Given the description of an element on the screen output the (x, y) to click on. 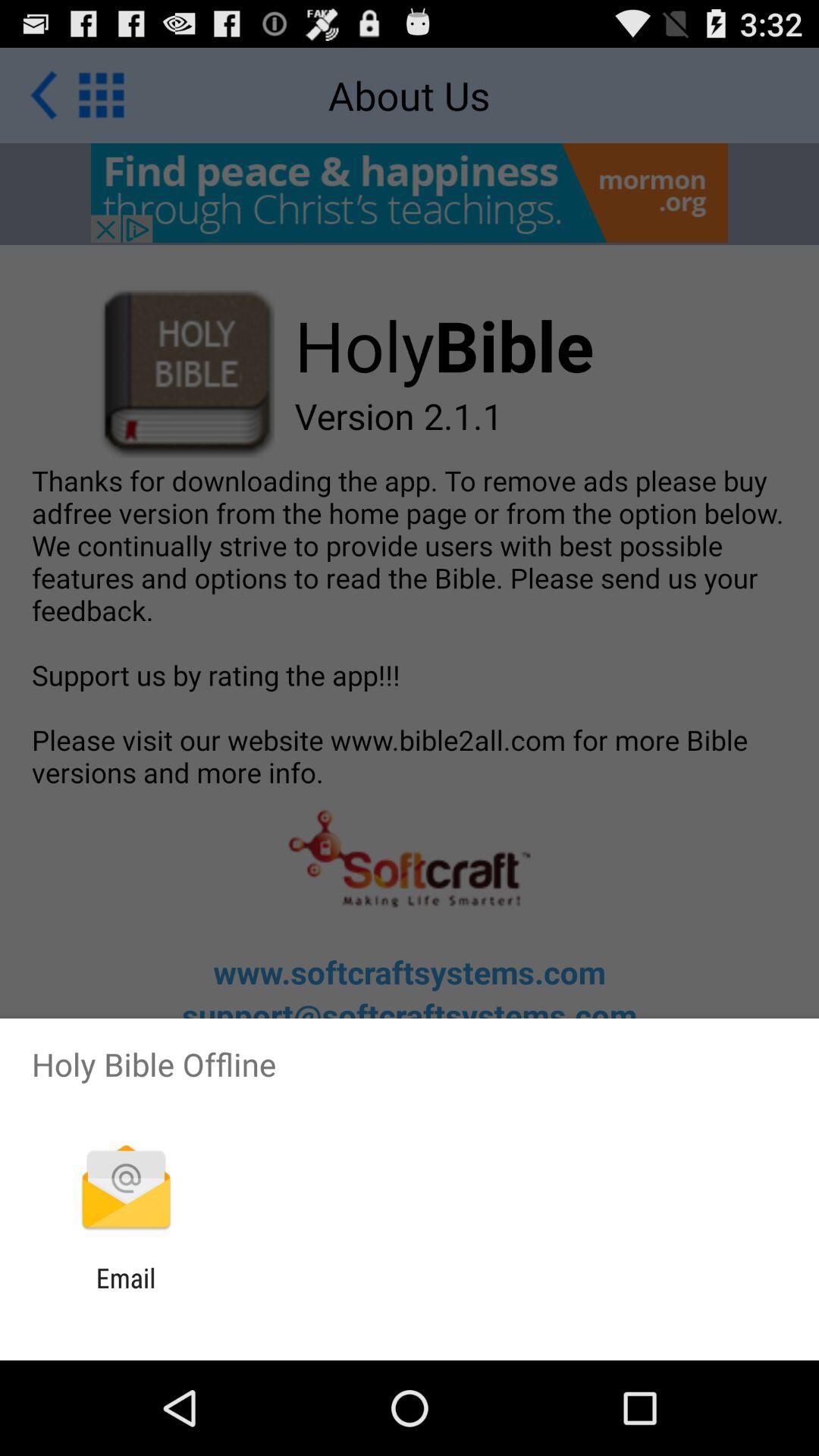
open the email (125, 1293)
